Given the description of an element on the screen output the (x, y) to click on. 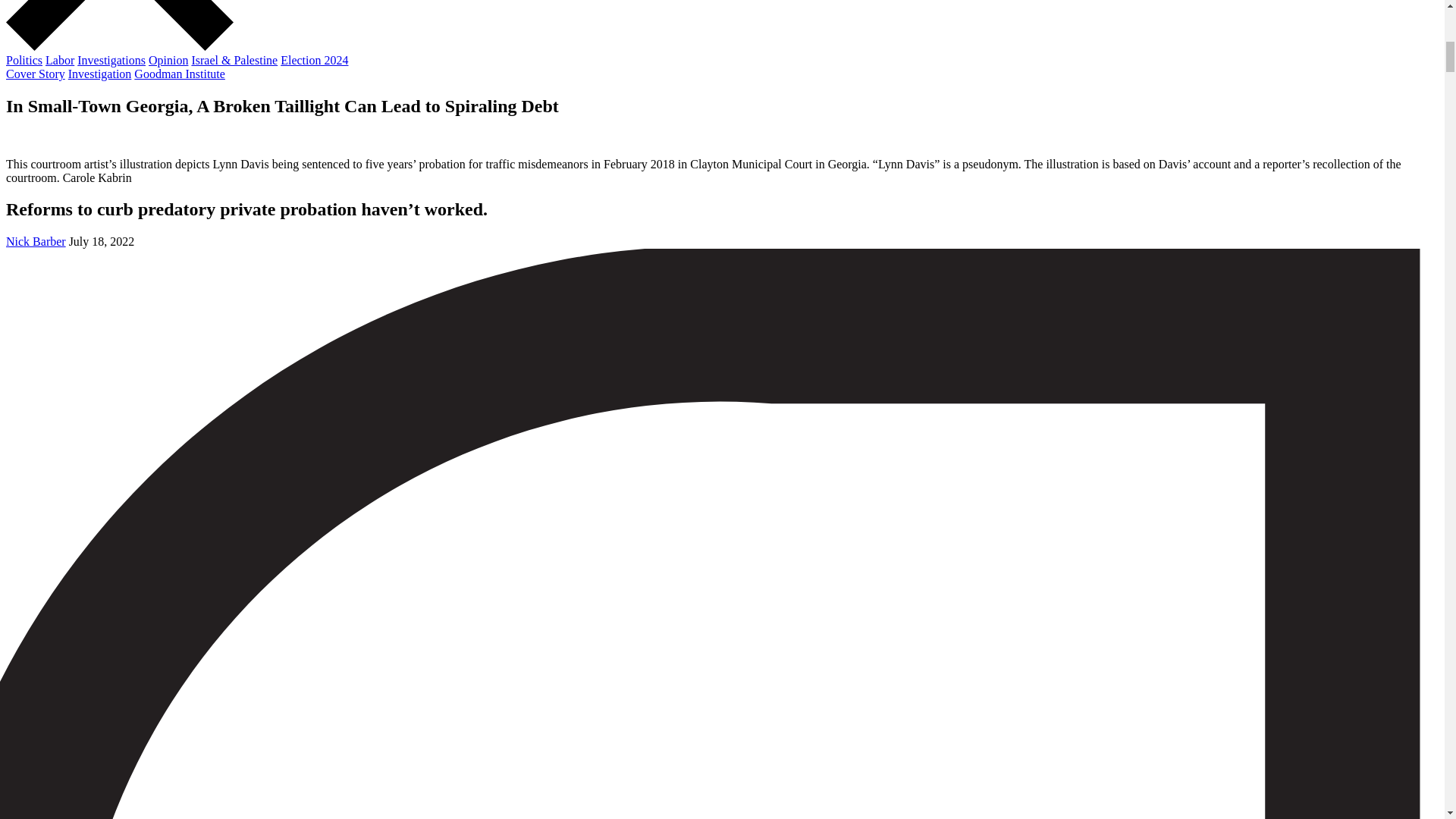
close (118, 46)
close (118, 25)
Labor (59, 60)
Opinion (167, 60)
Politics (23, 60)
Cover Story (35, 73)
Investigations (111, 60)
Goodman Institute (179, 73)
Investigation (100, 73)
Election 2024 (314, 60)
Nick Barber (35, 241)
